Given the description of an element on the screen output the (x, y) to click on. 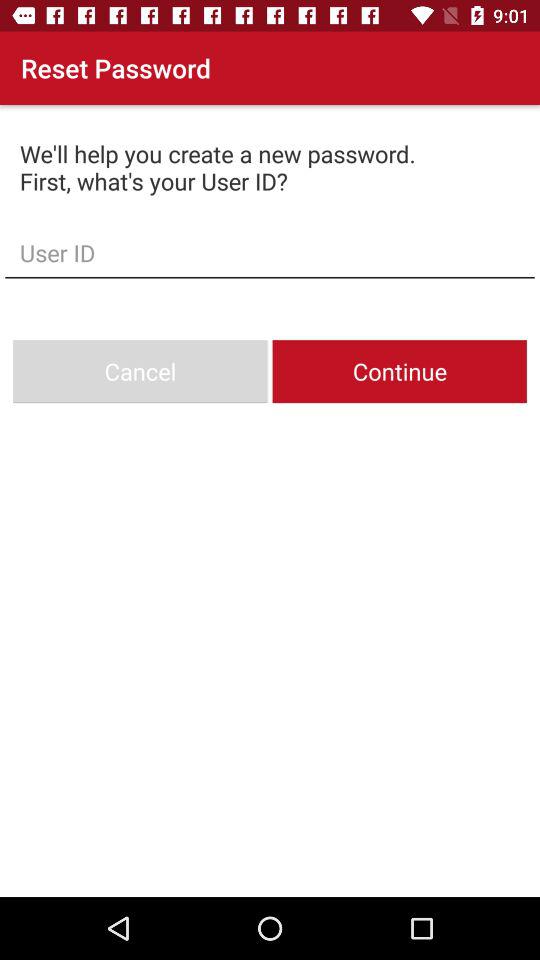
click the icon on the left (140, 371)
